Given the description of an element on the screen output the (x, y) to click on. 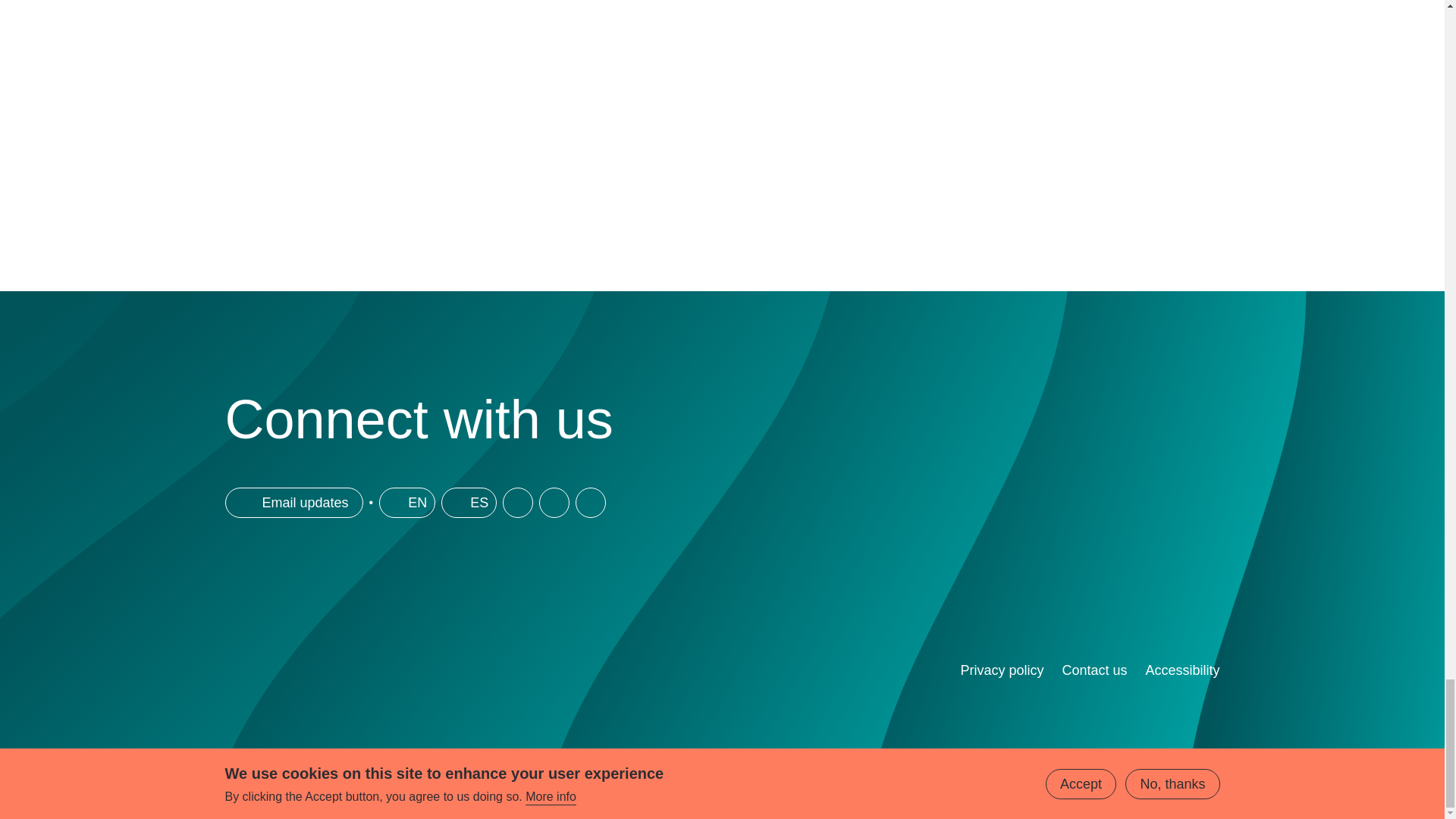
Return to the homepage (412, 684)
